Given the description of an element on the screen output the (x, y) to click on. 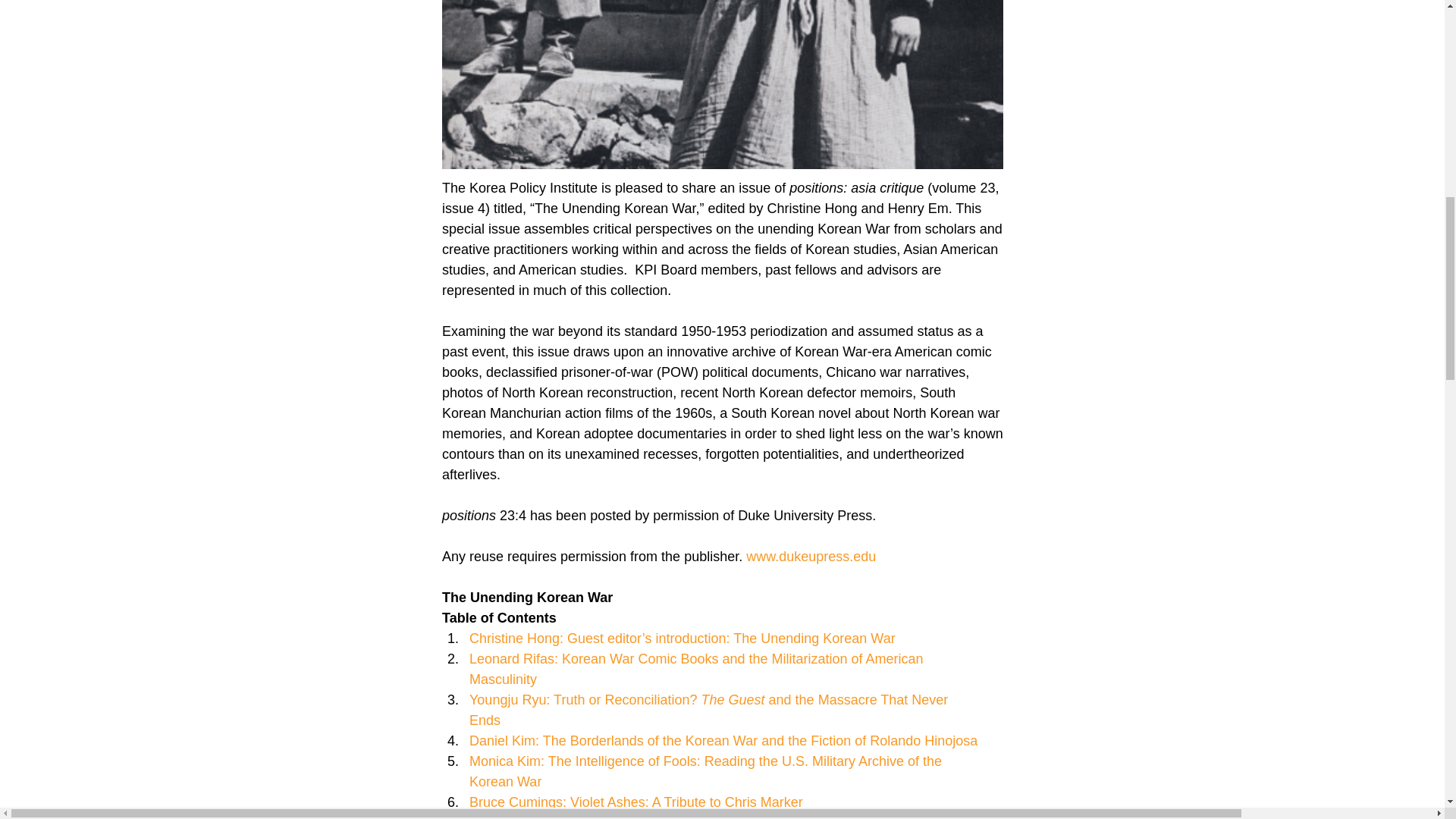
www.dukeupress.edu (810, 556)
and the Massacre That Never Ends (709, 710)
Youngju Ryu: Truth or Reconciliation?  (584, 699)
The Guest  (734, 699)
Bruce Cumings: Violet Ashes: A Tribute to Chris Marker (635, 801)
